Given the description of an element on the screen output the (x, y) to click on. 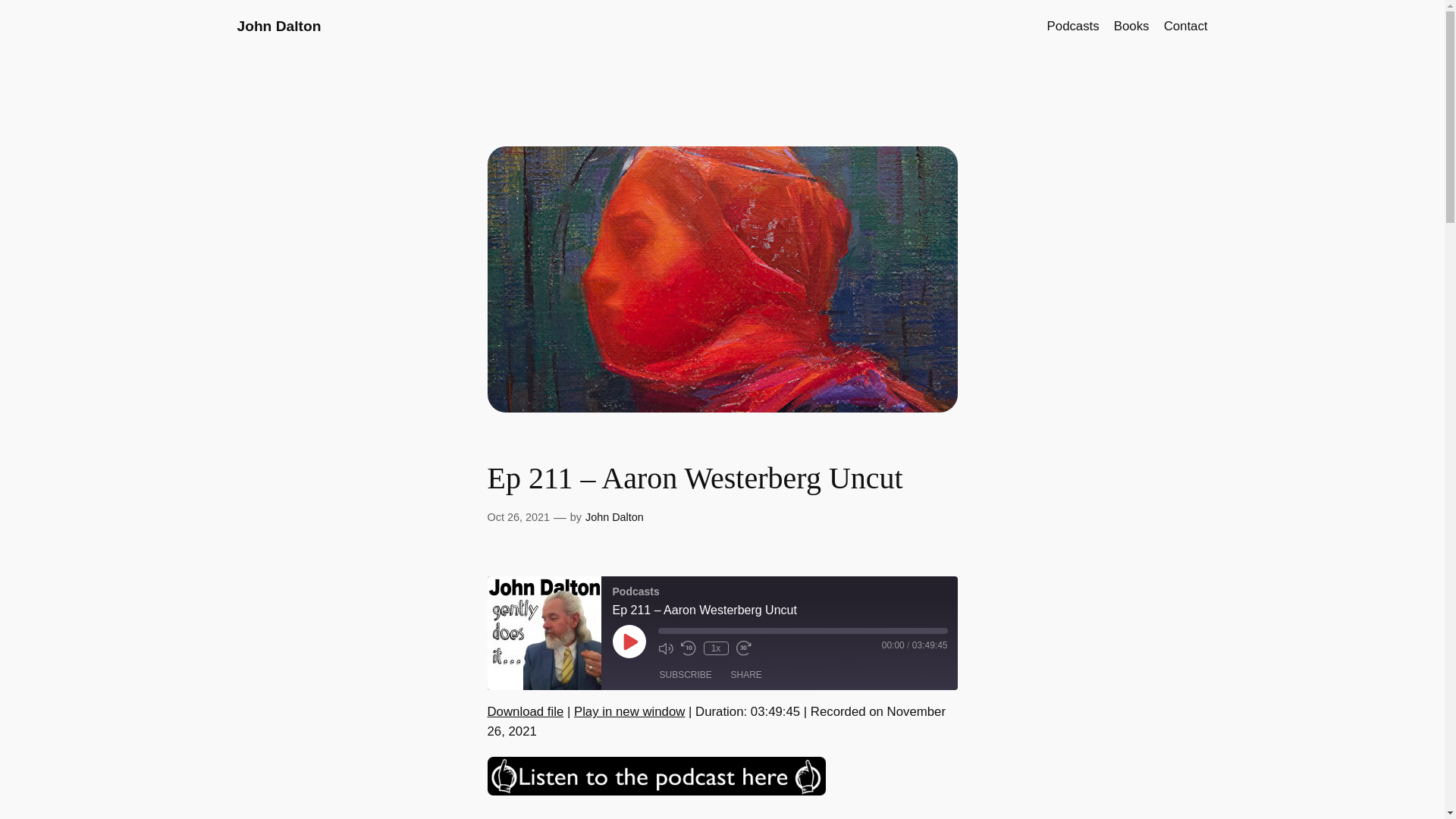
Rewind 10 Seconds (688, 648)
Subscribe (685, 674)
Contact (1185, 26)
Download file (524, 711)
SUBSCRIBE (685, 674)
Fast Forward 30 seconds (743, 648)
Podcasts (542, 633)
Oct 26, 2021 (517, 517)
Books (1131, 26)
Fast Forward 30 seconds (743, 648)
